Given the description of an element on the screen output the (x, y) to click on. 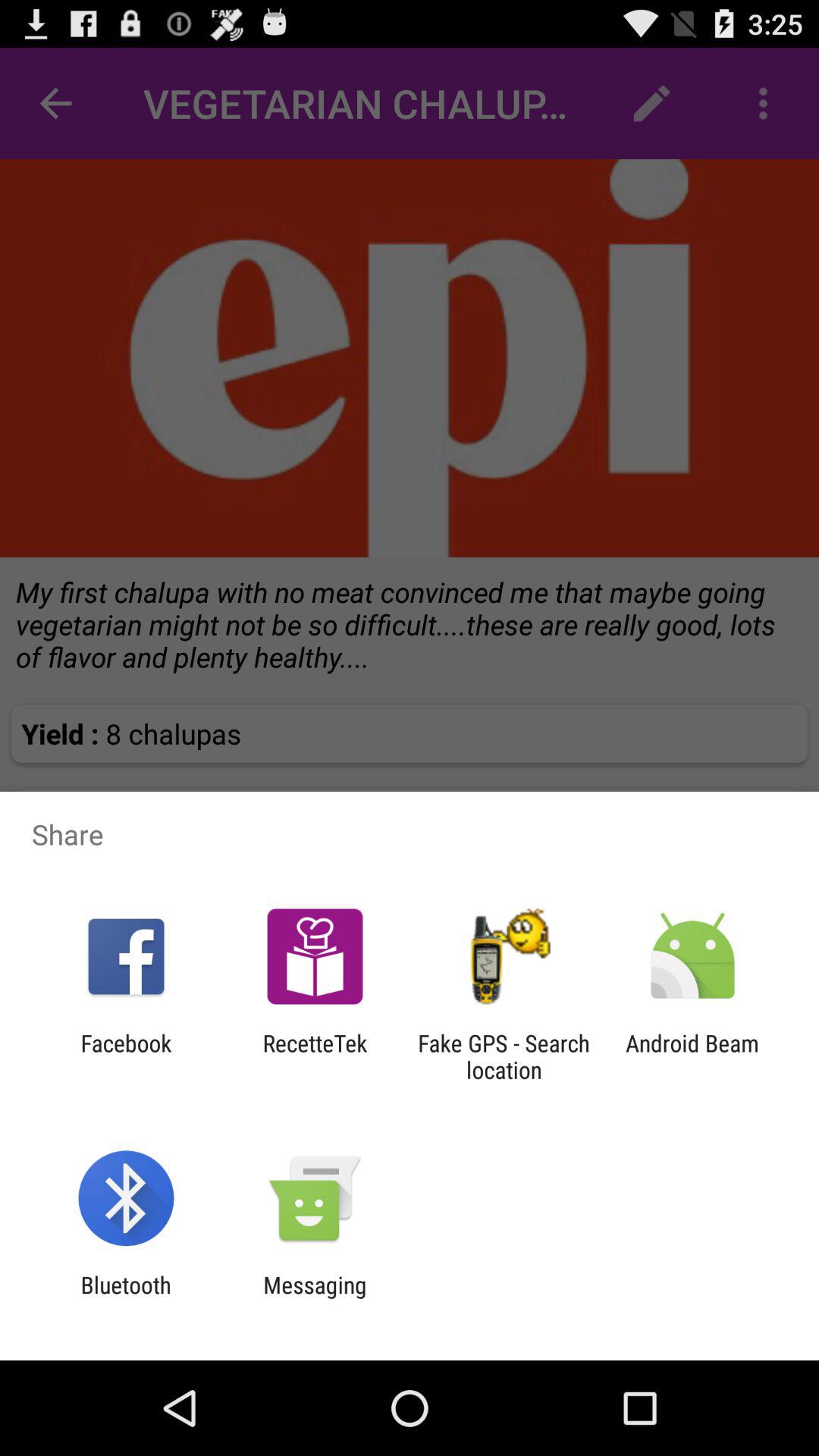
choose item to the right of the facebook app (314, 1056)
